Given the description of an element on the screen output the (x, y) to click on. 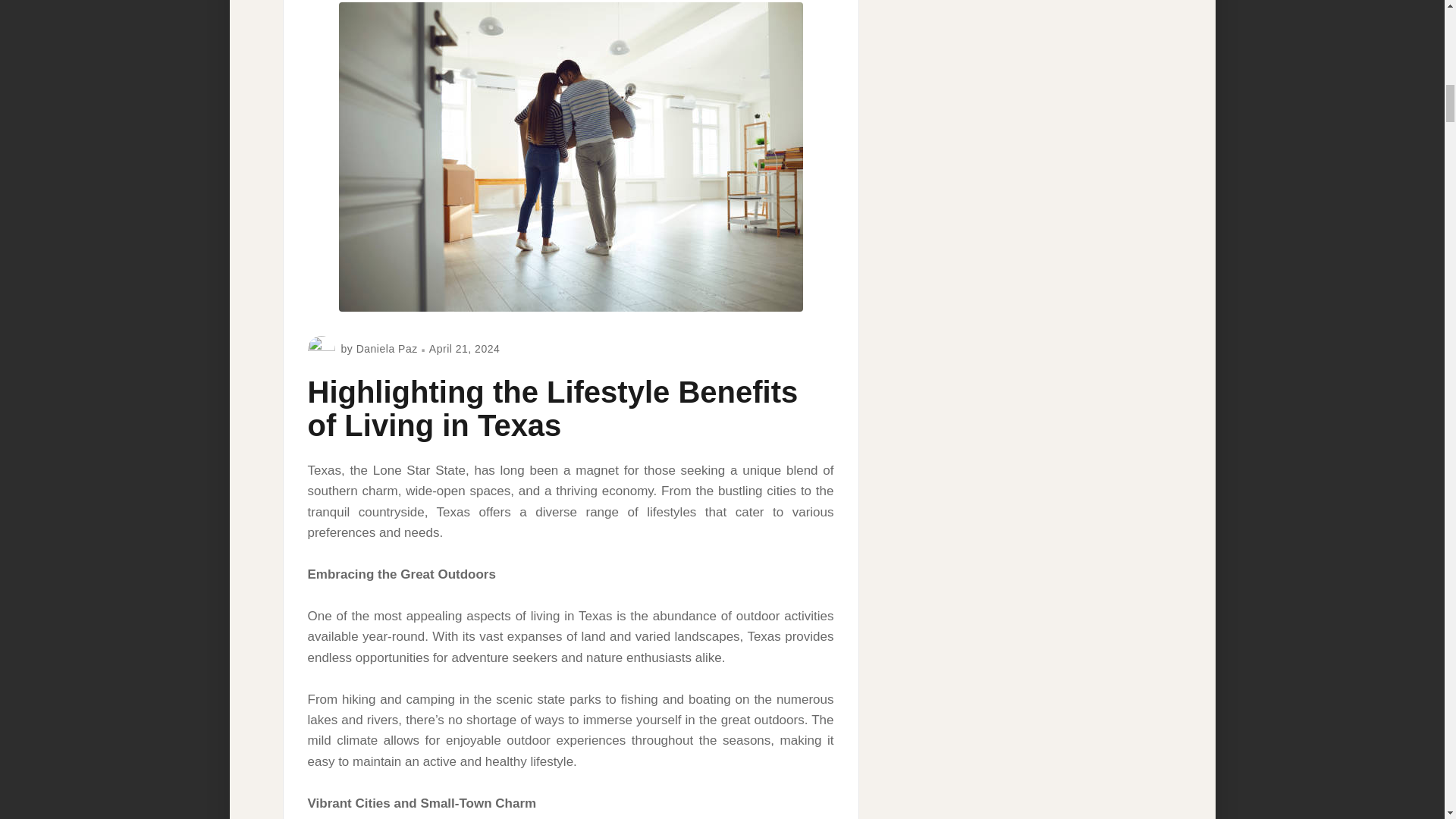
Highlighting the Lifestyle Benefits of Living in Texas (552, 408)
April 21, 2024 (464, 348)
Daniela Paz (386, 348)
